Given the description of an element on the screen output the (x, y) to click on. 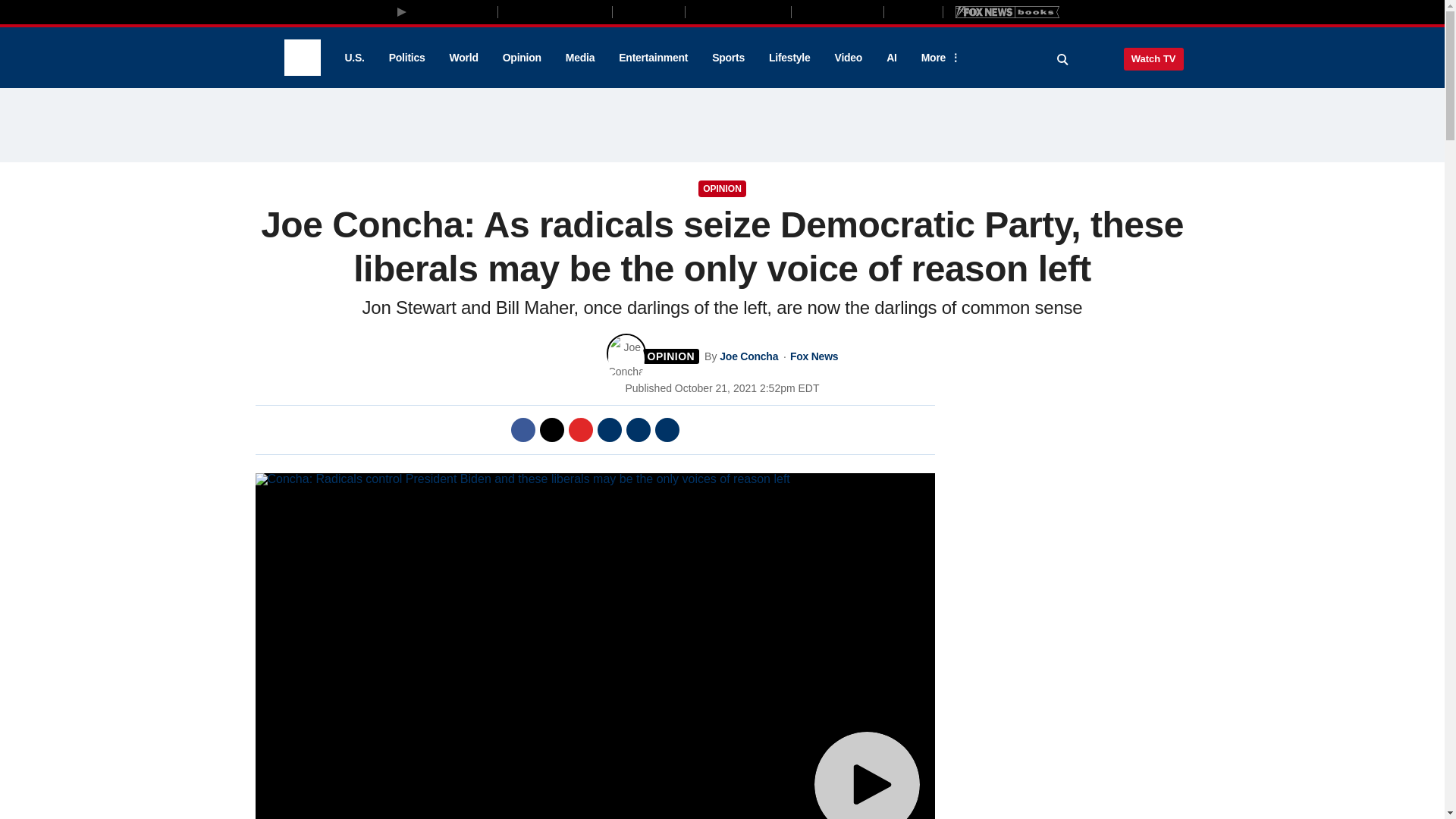
Watch TV (1153, 58)
U.S. (353, 57)
Books (1007, 11)
Video (848, 57)
Fox News (301, 57)
Sports (728, 57)
Fox Business (554, 11)
Outkick (912, 11)
Entertainment (653, 57)
Fox Weather (836, 11)
Lifestyle (789, 57)
Fox News Audio (737, 11)
Opinion (521, 57)
Fox News Media (453, 11)
World (464, 57)
